Given the description of an element on the screen output the (x, y) to click on. 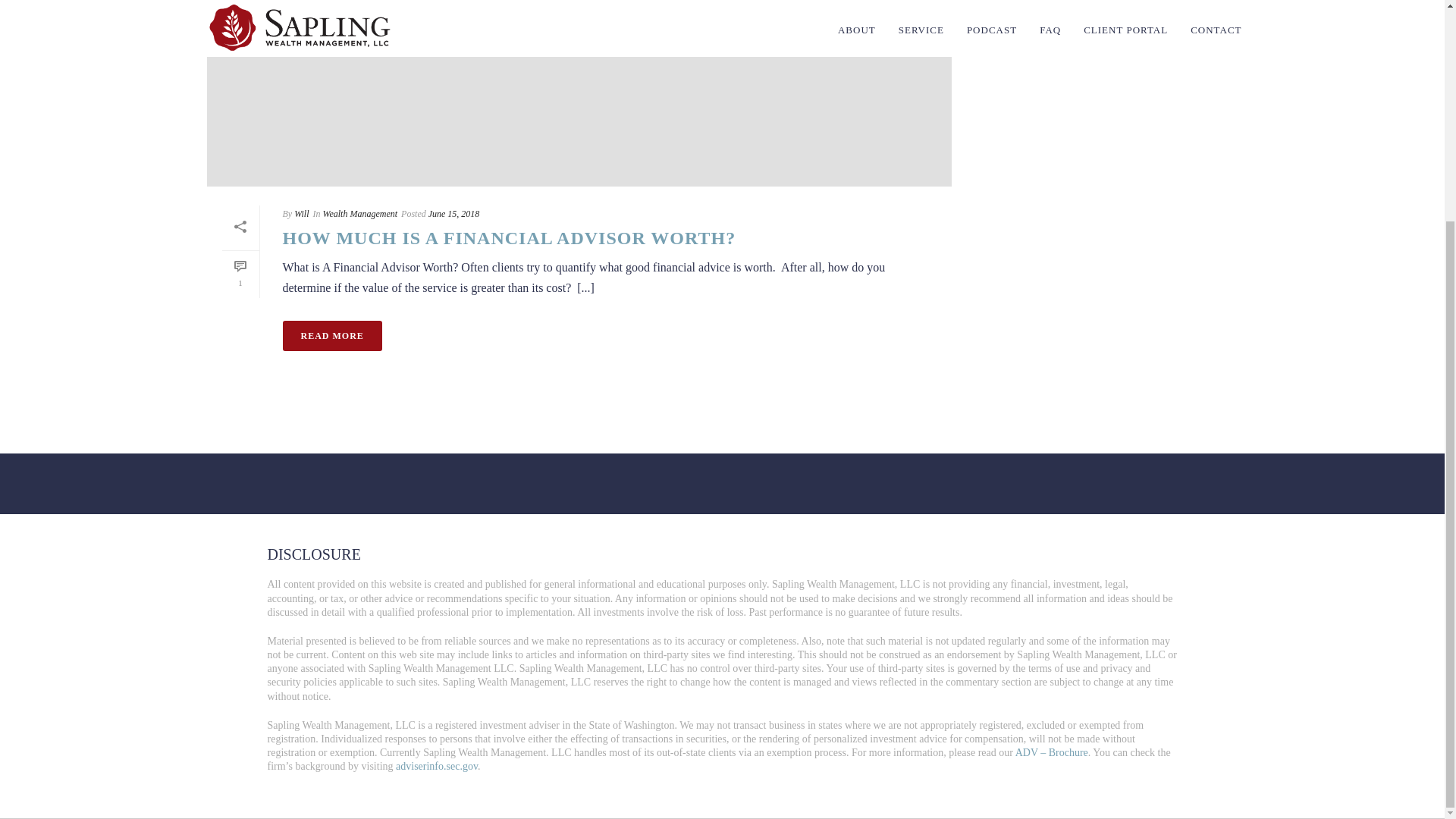
READ MORE (331, 336)
Posts by Will (301, 213)
adviserinfo.sec.gov (436, 766)
Wealth Management (360, 213)
Will (301, 213)
READ MORE (331, 336)
HOW MUCH IS A FINANCIAL ADVISOR WORTH? (508, 238)
June 15, 2018 (454, 213)
